Given the description of an element on the screen output the (x, y) to click on. 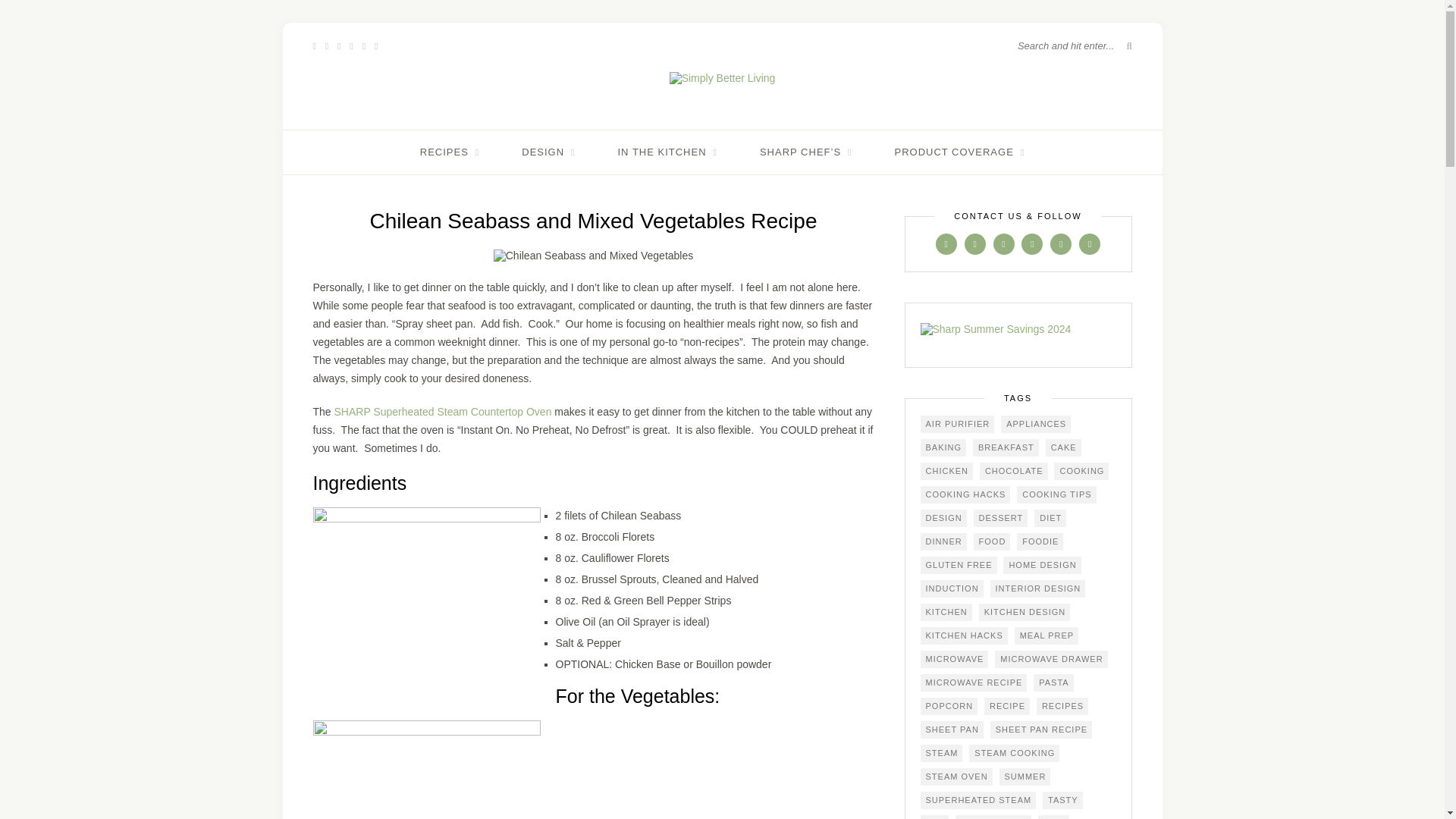
IN THE KITCHEN (666, 152)
DESIGN (548, 152)
RECIPES (449, 152)
PRODUCT COVERAGE (959, 152)
